Given the description of an element on the screen output the (x, y) to click on. 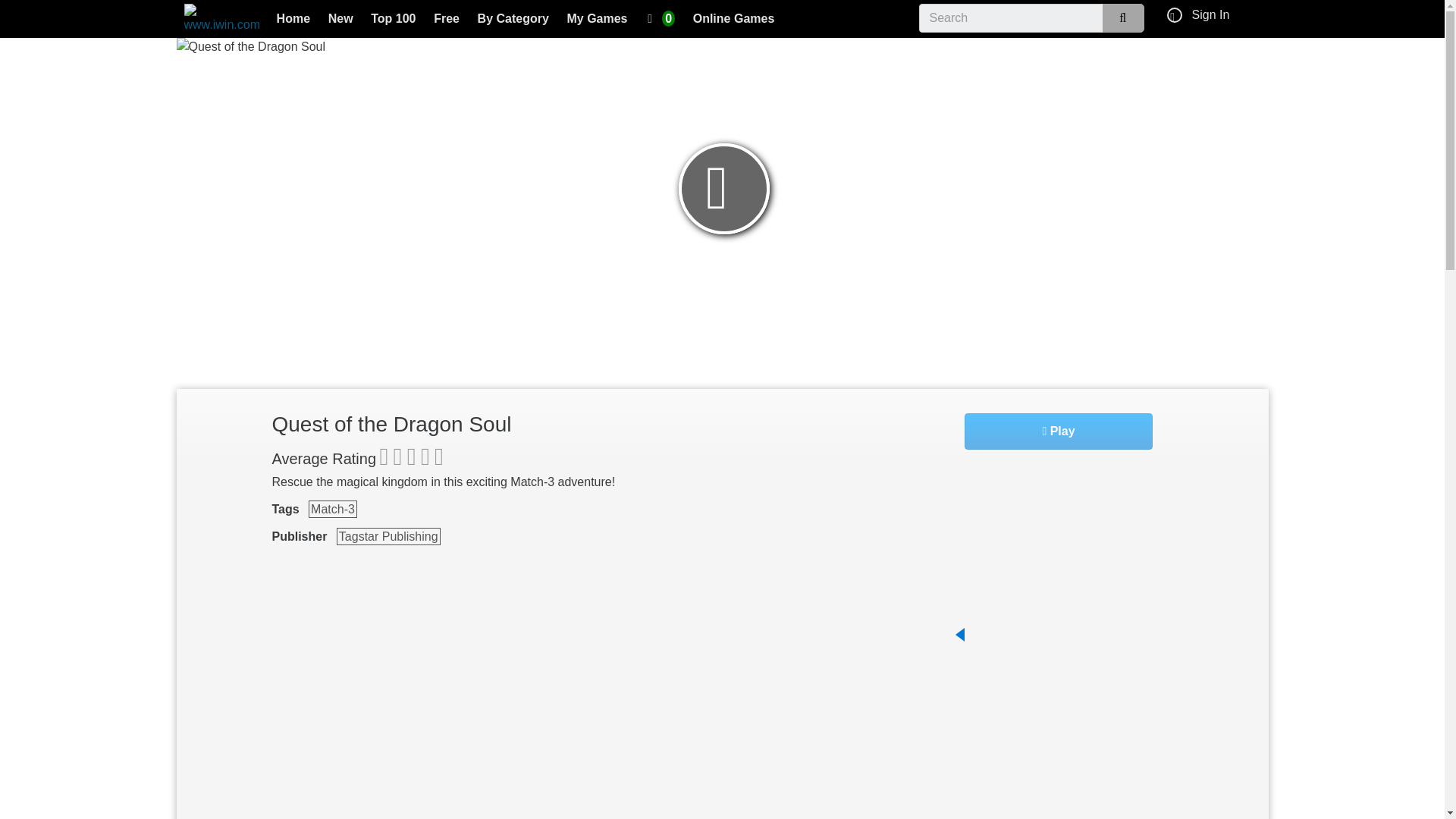
www.iwin.com (221, 19)
Play (1058, 431)
Online Games (733, 20)
My Games (596, 20)
New (339, 20)
0 (660, 20)
Free (446, 20)
By Category (513, 20)
Home (293, 20)
